Given the description of an element on the screen output the (x, y) to click on. 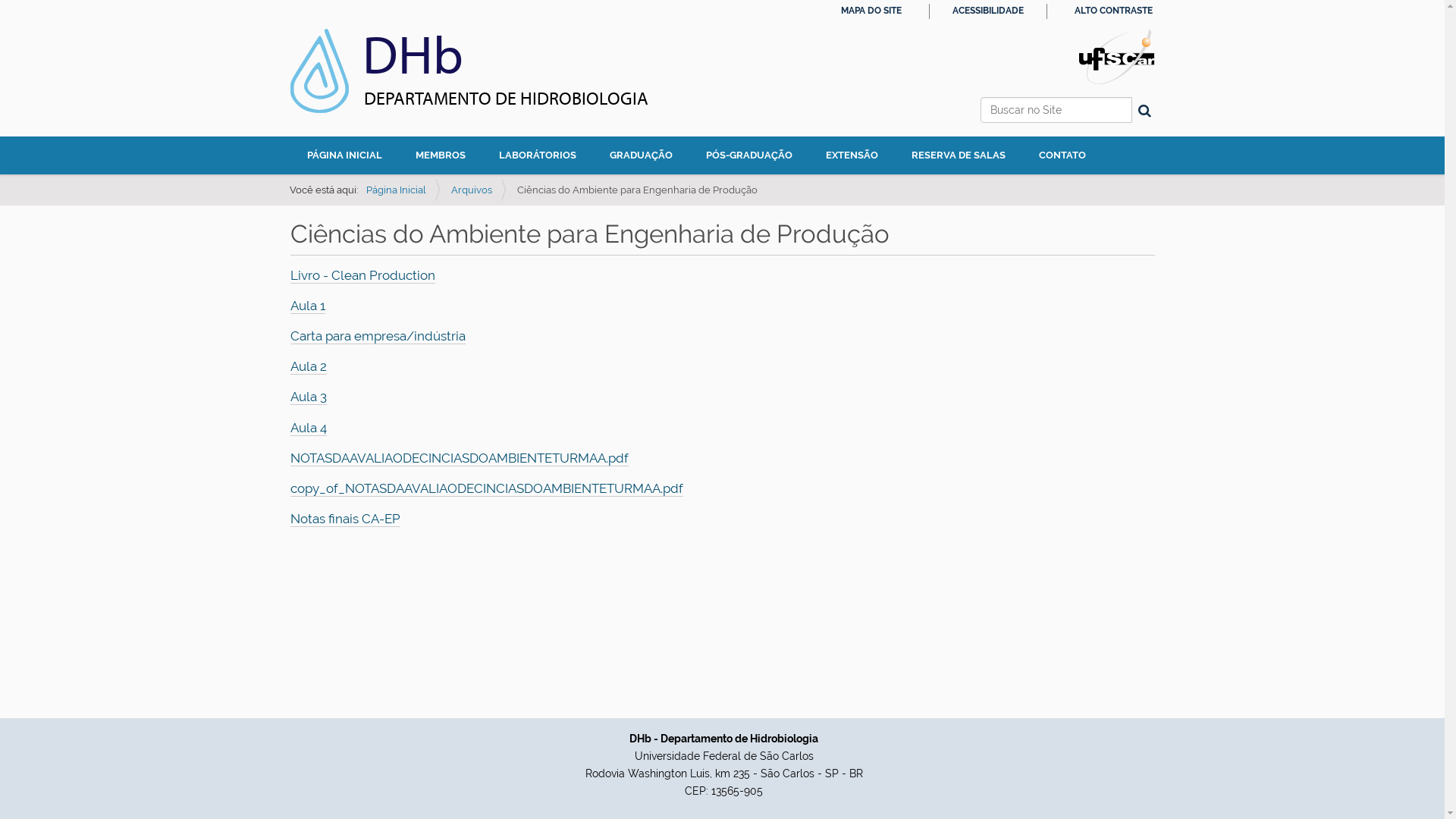
ALTO CONTRASTE Element type: text (1112, 10)
NOTASDAAVALIAODECINCIASDOAMBIENTETURMAA.pdf Element type: text (458, 458)
CONTATO Element type: text (1062, 155)
Aula 4 Element type: text (307, 428)
RESERVA DE SALAS Element type: text (958, 155)
copy_of_NOTASDAAVALIAODECINCIASDOAMBIENTETURMAA.pdf Element type: text (485, 488)
Notas finais CA-EP Element type: text (344, 519)
Aula 2 Element type: text (307, 366)
Buscar no Site Element type: hover (1055, 109)
Livro - Clean Production Element type: text (361, 275)
ACESSIBILIDADE Element type: text (987, 10)
MEMBROS Element type: text (440, 155)
Arquivos Element type: text (470, 189)
MAPA DO SITE Element type: text (870, 10)
Aula 1 Element type: text (306, 305)
Portal UFSCar Element type: hover (1116, 54)
Aula 3 Element type: text (307, 396)
DHb
DEPARTAMENTO DE HIDROBIOLOGIA Element type: text (468, 82)
Departamento de Hidrobiologia Element type: hover (318, 70)
